Given the description of an element on the screen output the (x, y) to click on. 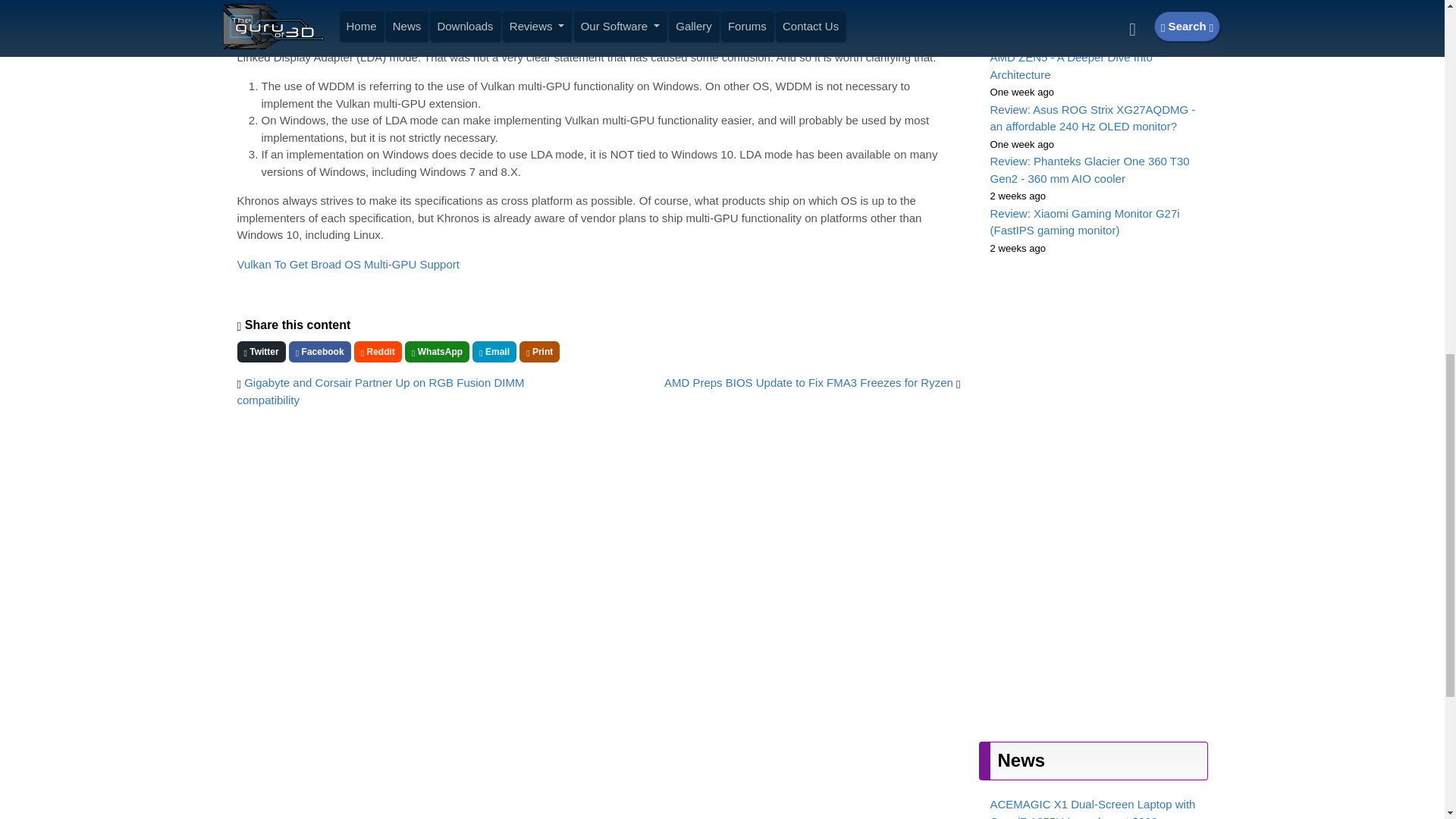
Reddit (377, 351)
Vulkan To Get Broad OS Multi-GPU Support (346, 264)
Facebook (319, 351)
Twitter (260, 351)
